Given the description of an element on the screen output the (x, y) to click on. 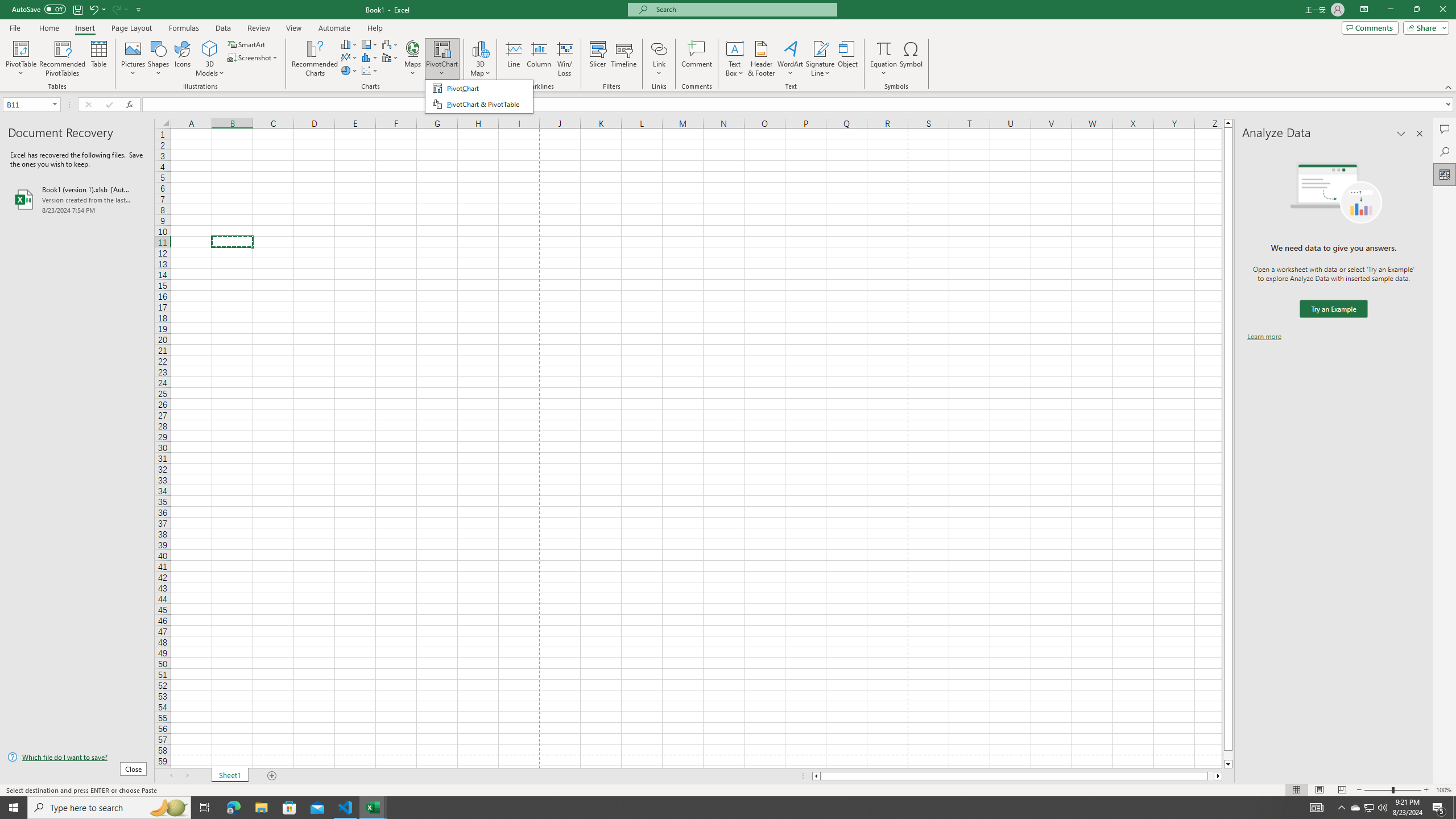
Analyze Data (1444, 173)
Share (1423, 27)
Review (258, 28)
Task Pane Options (1400, 133)
Zoom Out (1377, 790)
Header & Footer... (761, 58)
Home (48, 28)
Zoom In (1426, 790)
Line up (1228, 122)
Help (374, 28)
Learn more (1264, 336)
Page right (1211, 775)
SmartArt... (247, 44)
Type here to search (108, 807)
PivotTable (20, 48)
